Given the description of an element on the screen output the (x, y) to click on. 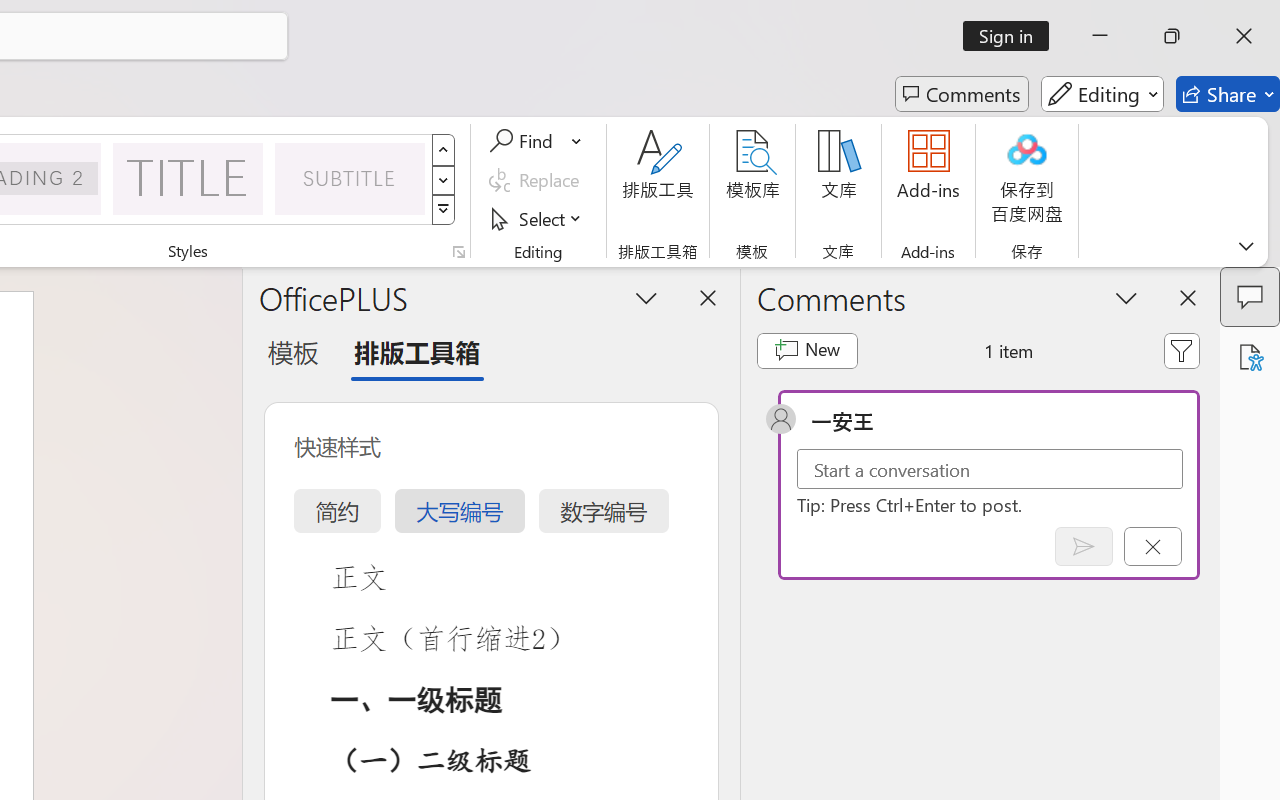
New comment (806, 350)
Subtitle (349, 178)
Accessibility Assistant (1249, 357)
